Given the description of an element on the screen output the (x, y) to click on. 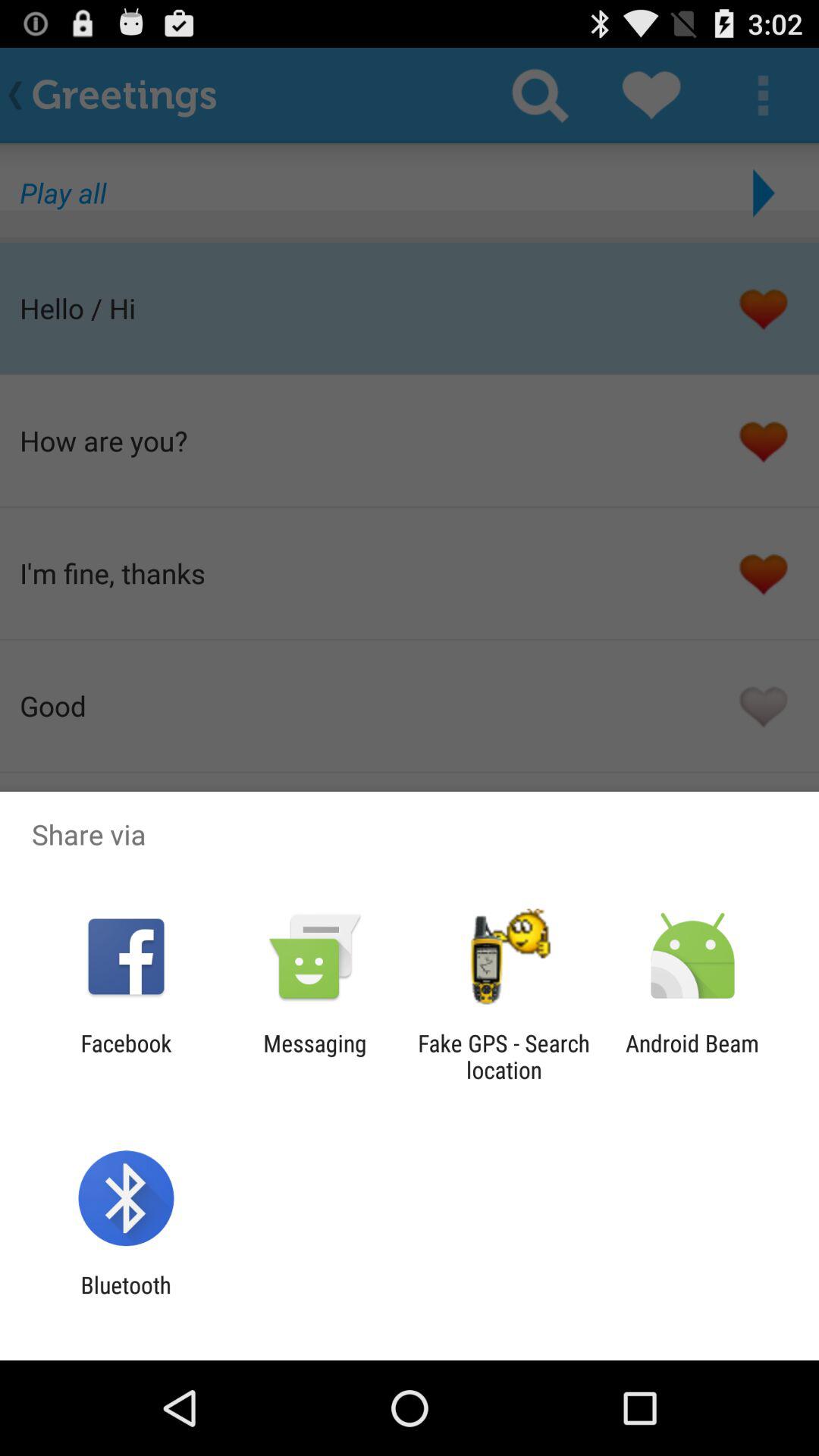
turn on the icon to the left of the android beam icon (503, 1056)
